Given the description of an element on the screen output the (x, y) to click on. 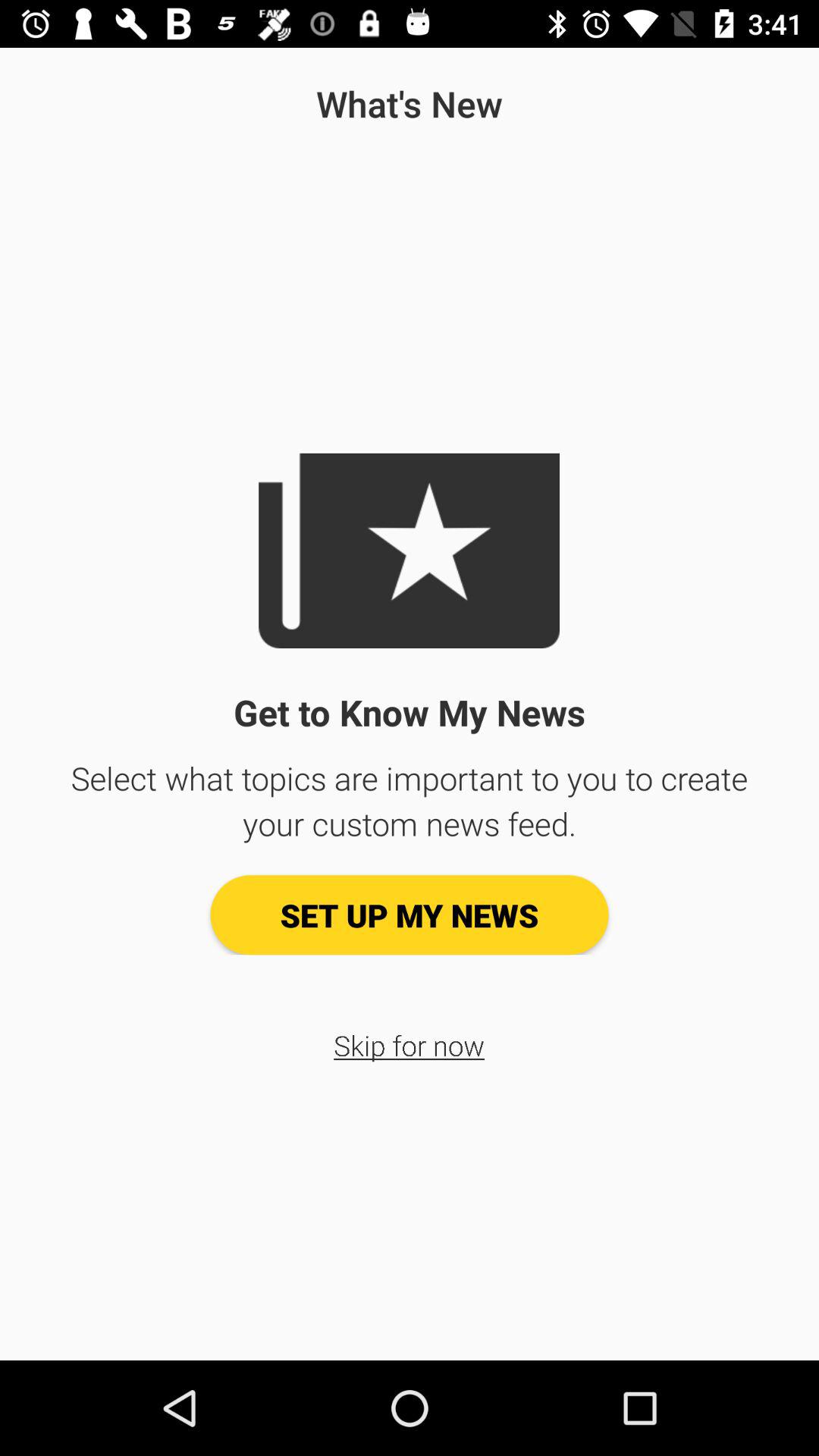
scroll to set up my (409, 914)
